Given the description of an element on the screen output the (x, y) to click on. 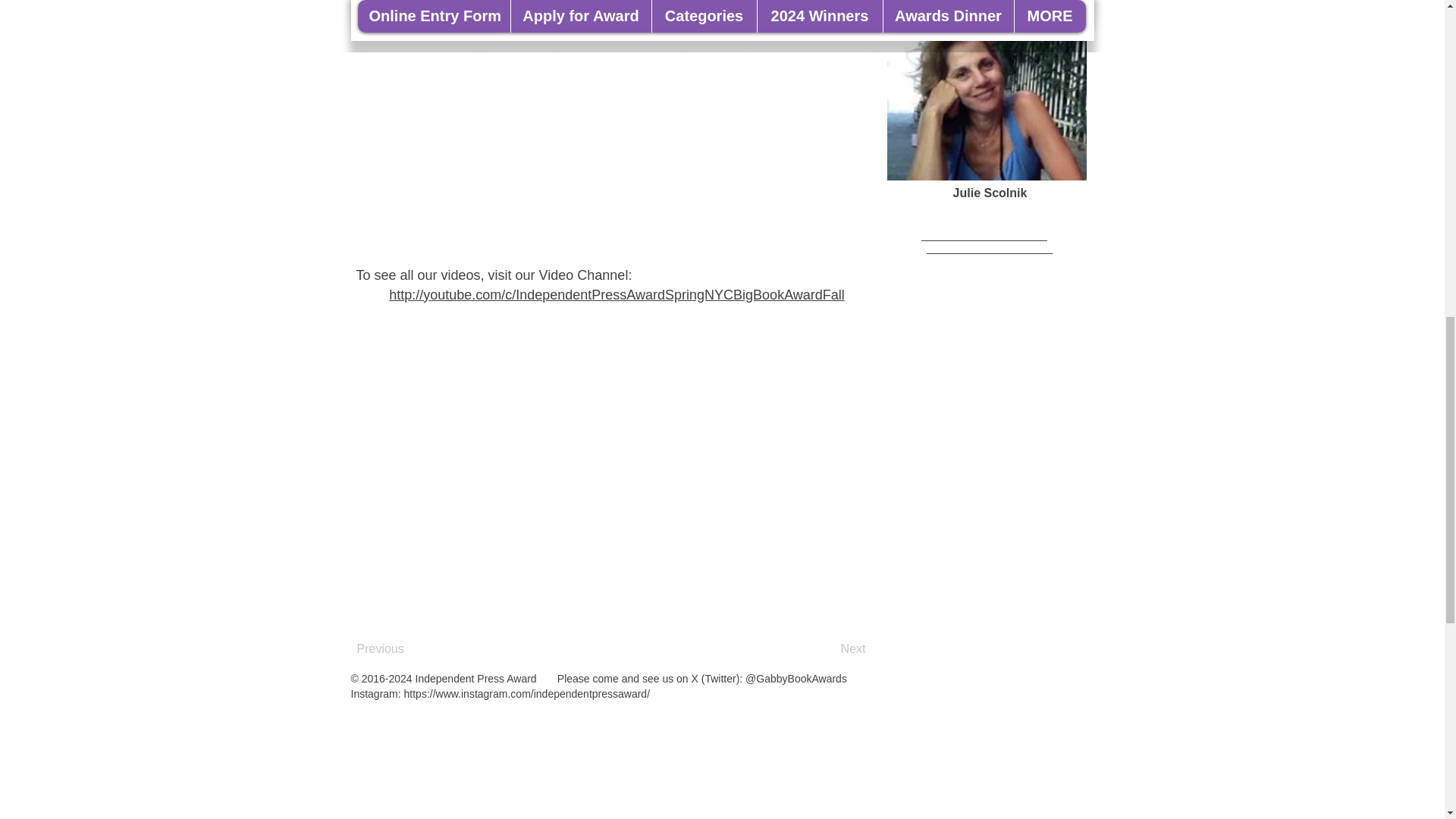
Julie Scolnik photo.jpeg (986, 90)
